Given the description of an element on the screen output the (x, y) to click on. 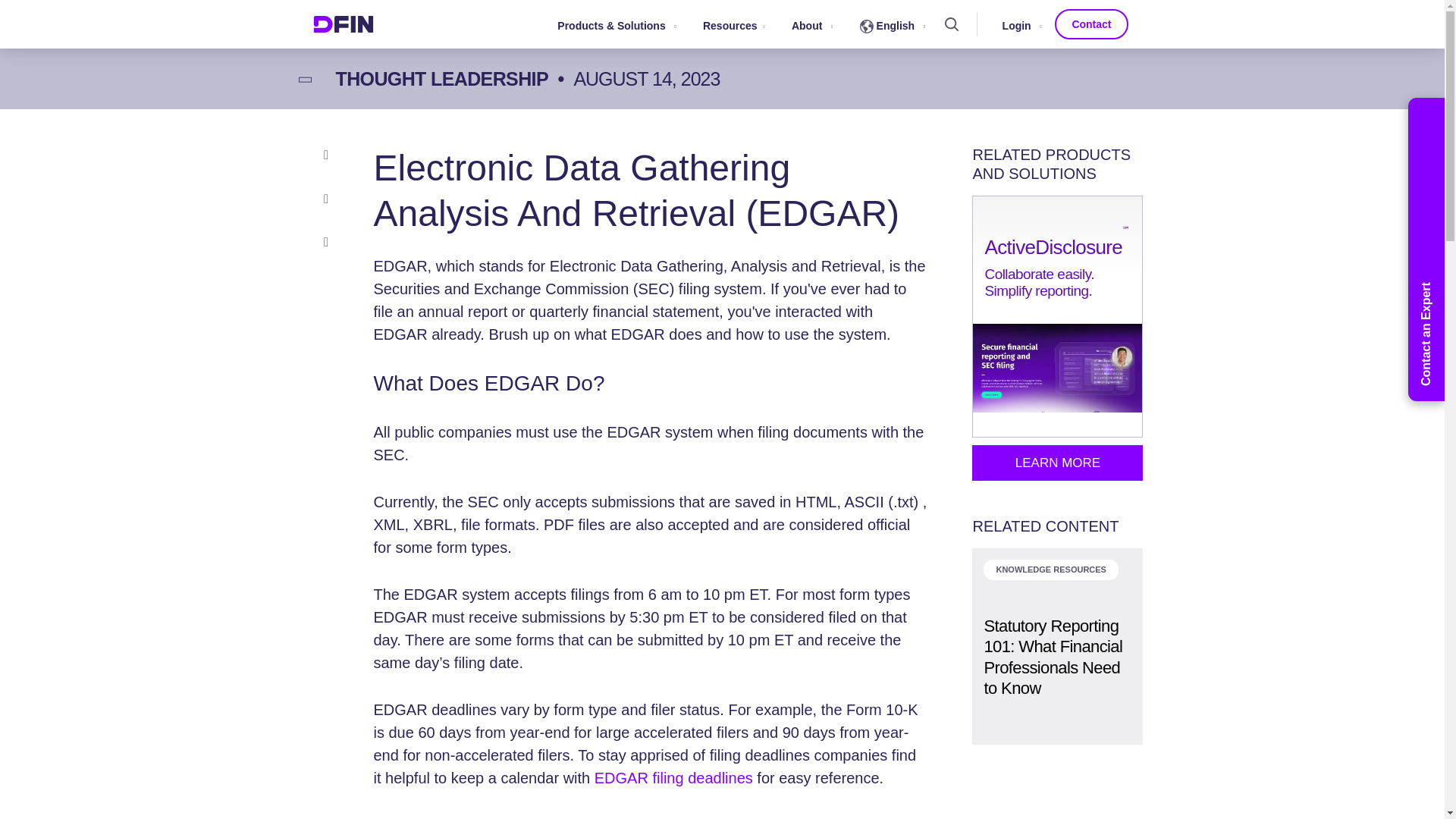
Home (342, 23)
Skip to main content (721, 1)
Learn More (1057, 462)
